Given the description of an element on the screen output the (x, y) to click on. 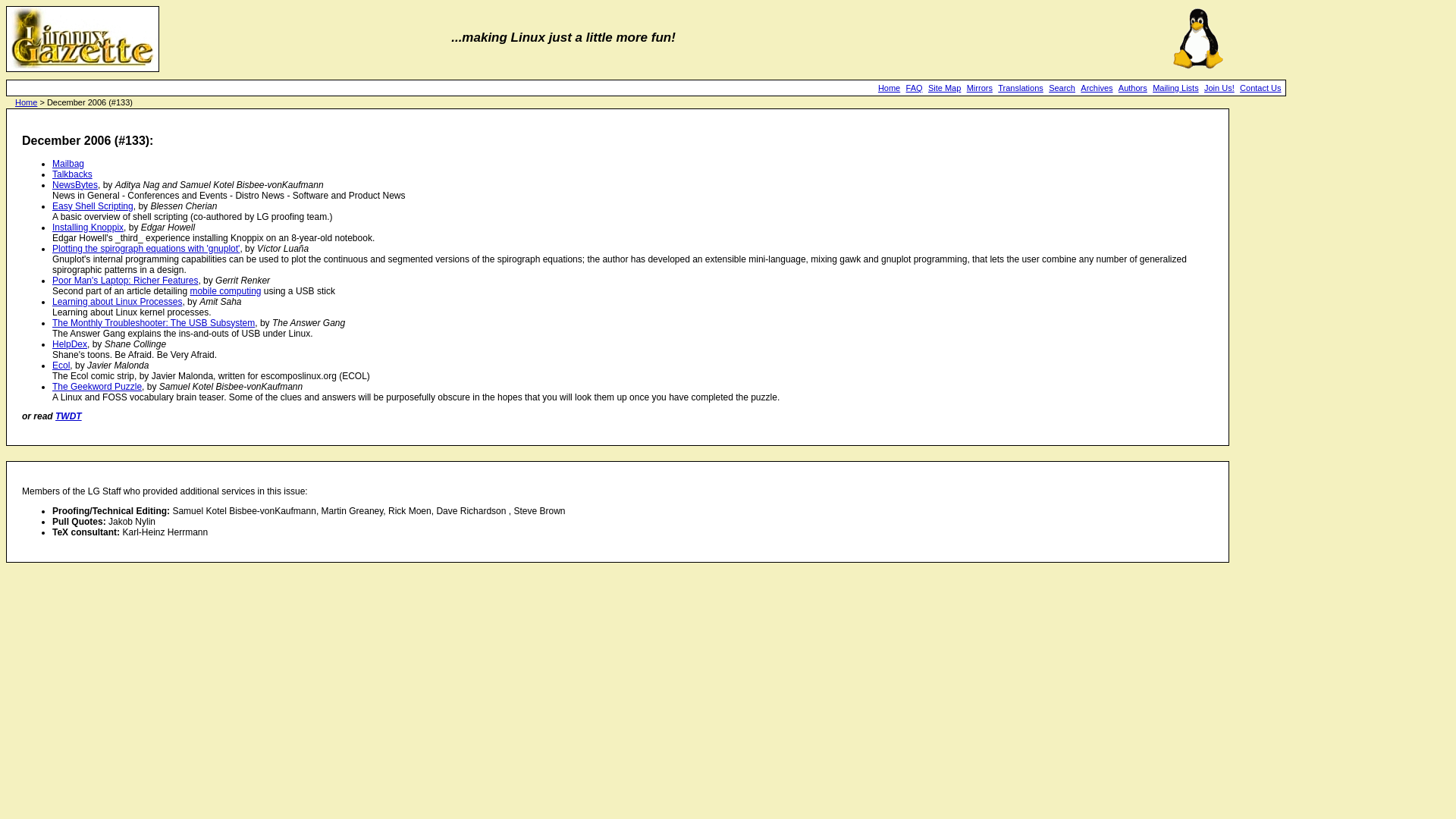
Mirrors (979, 87)
Authors (1132, 87)
Home (25, 102)
mobile computing (224, 290)
FAQ (914, 87)
Translations (1020, 87)
Site Map (944, 87)
Talkbacks (72, 173)
Poor Man's Laptop: Richer Features (125, 280)
The Geekword Puzzle (96, 386)
